Given the description of an element on the screen output the (x, y) to click on. 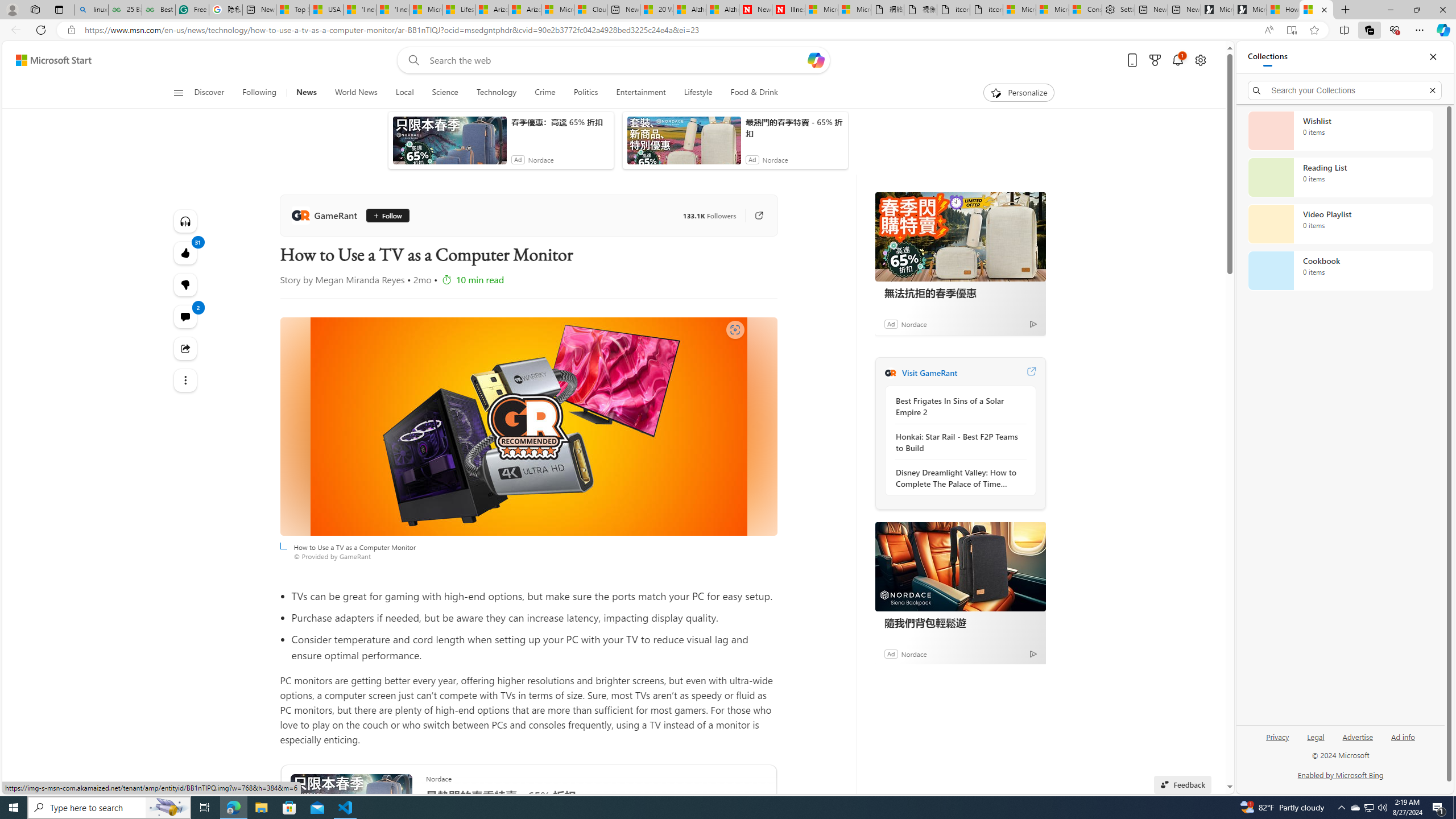
Entertainment (641, 92)
itconcepthk.com/projector_solutions.mp4 (986, 9)
Following (258, 92)
How to Use a TV as a Computer Monitor (528, 426)
Class: at-item (184, 380)
Cookbook collection, 0 items (1339, 270)
Search your Collections (1345, 90)
Best SSL Certificates Provider in India - GeeksforGeeks (158, 9)
Enter Immersive Reader (F9) (1291, 29)
Skip to content (49, 59)
